Given the description of an element on the screen output the (x, y) to click on. 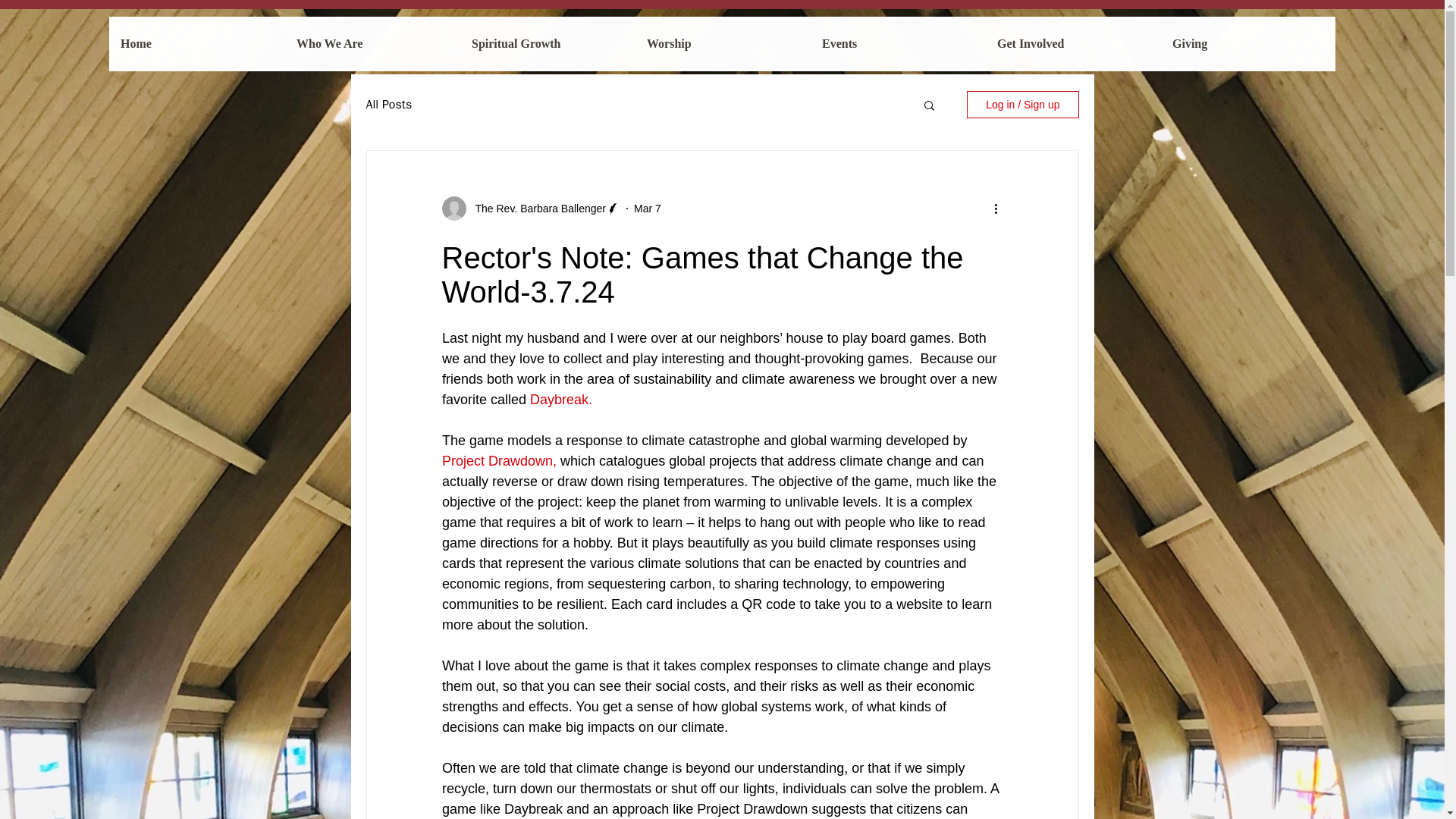
Mar 7 (647, 207)
The Rev. Barbara Ballenger (535, 207)
All Posts (388, 105)
Daybreak. (560, 399)
Who We Are (371, 43)
Home (196, 43)
Project Drawdown, (498, 460)
Events (897, 43)
